Given the description of an element on the screen output the (x, y) to click on. 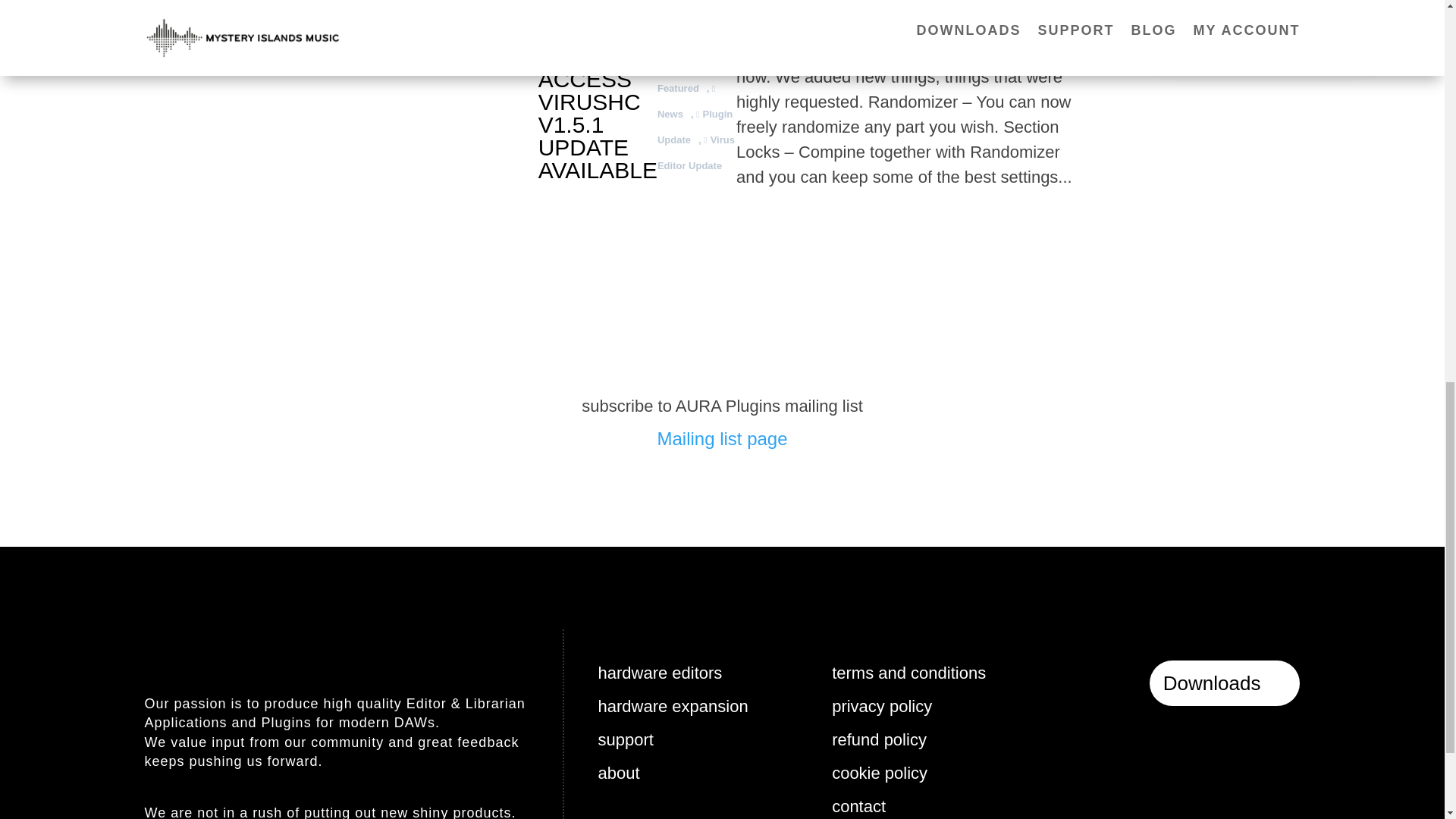
support (624, 739)
terms and conditions (908, 672)
News (688, 100)
ACCESS VIRUSHC V1.5.1 UPDATE AVAILABLE (598, 124)
contact (858, 805)
mysteryislandsmusic-1880x440-white (336, 649)
privacy policy (881, 705)
refund policy (878, 739)
Posts by Jani (684, 11)
Mailing list page (722, 439)
